Given the description of an element on the screen output the (x, y) to click on. 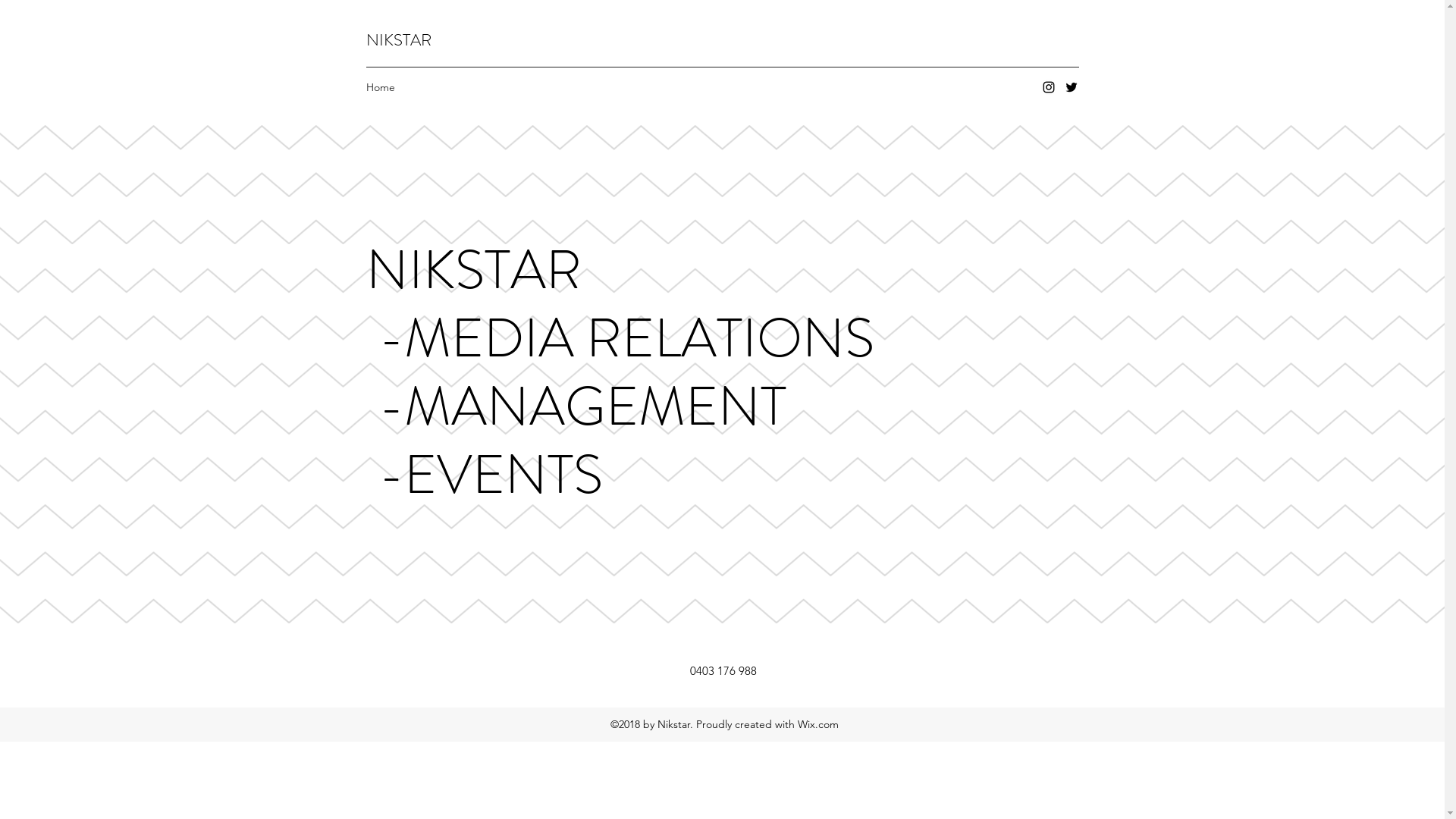
Home Element type: text (379, 86)
NIKSTAR Element type: text (397, 39)
